Given the description of an element on the screen output the (x, y) to click on. 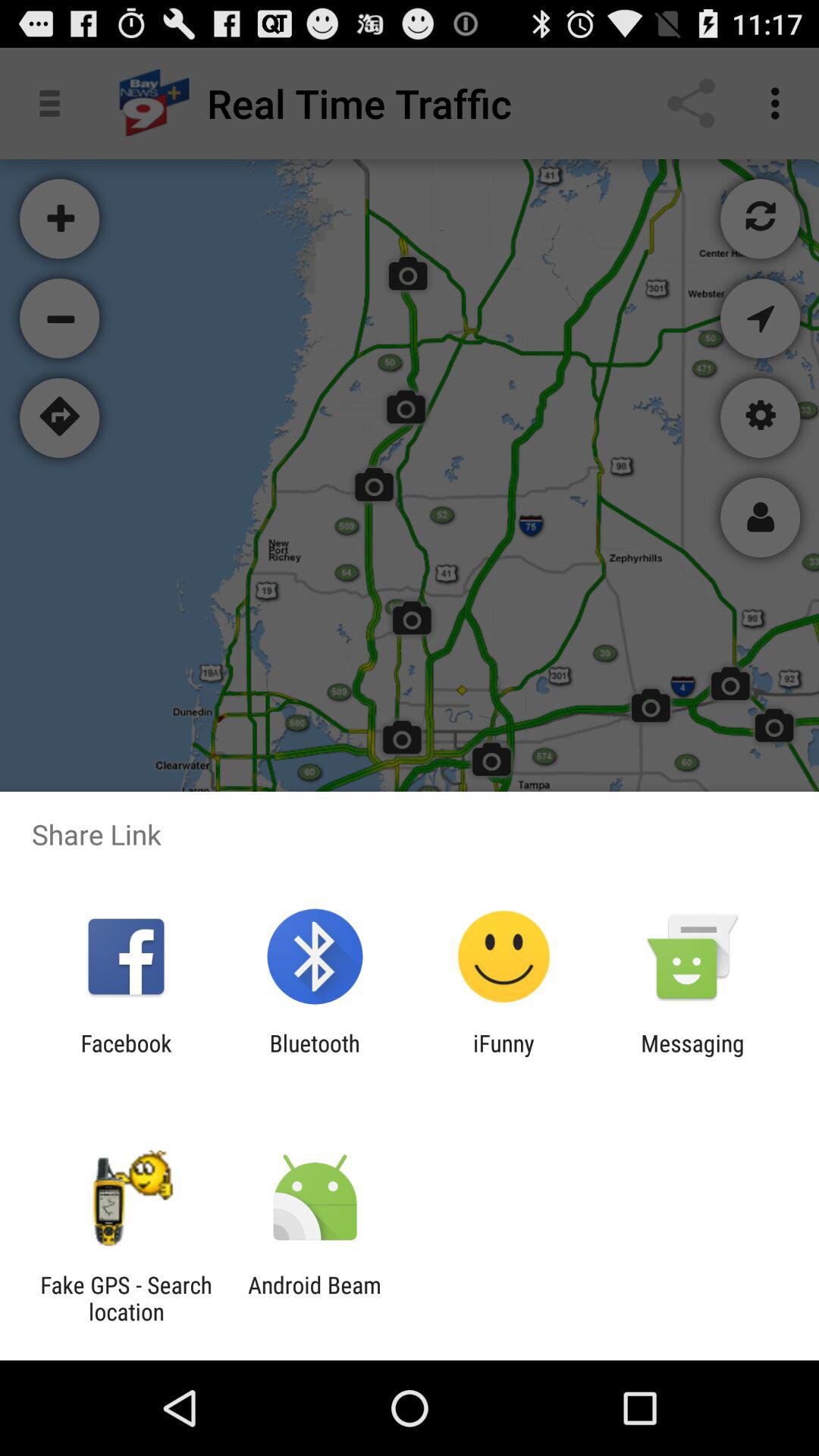
flip to bluetooth item (314, 1056)
